Given the description of an element on the screen output the (x, y) to click on. 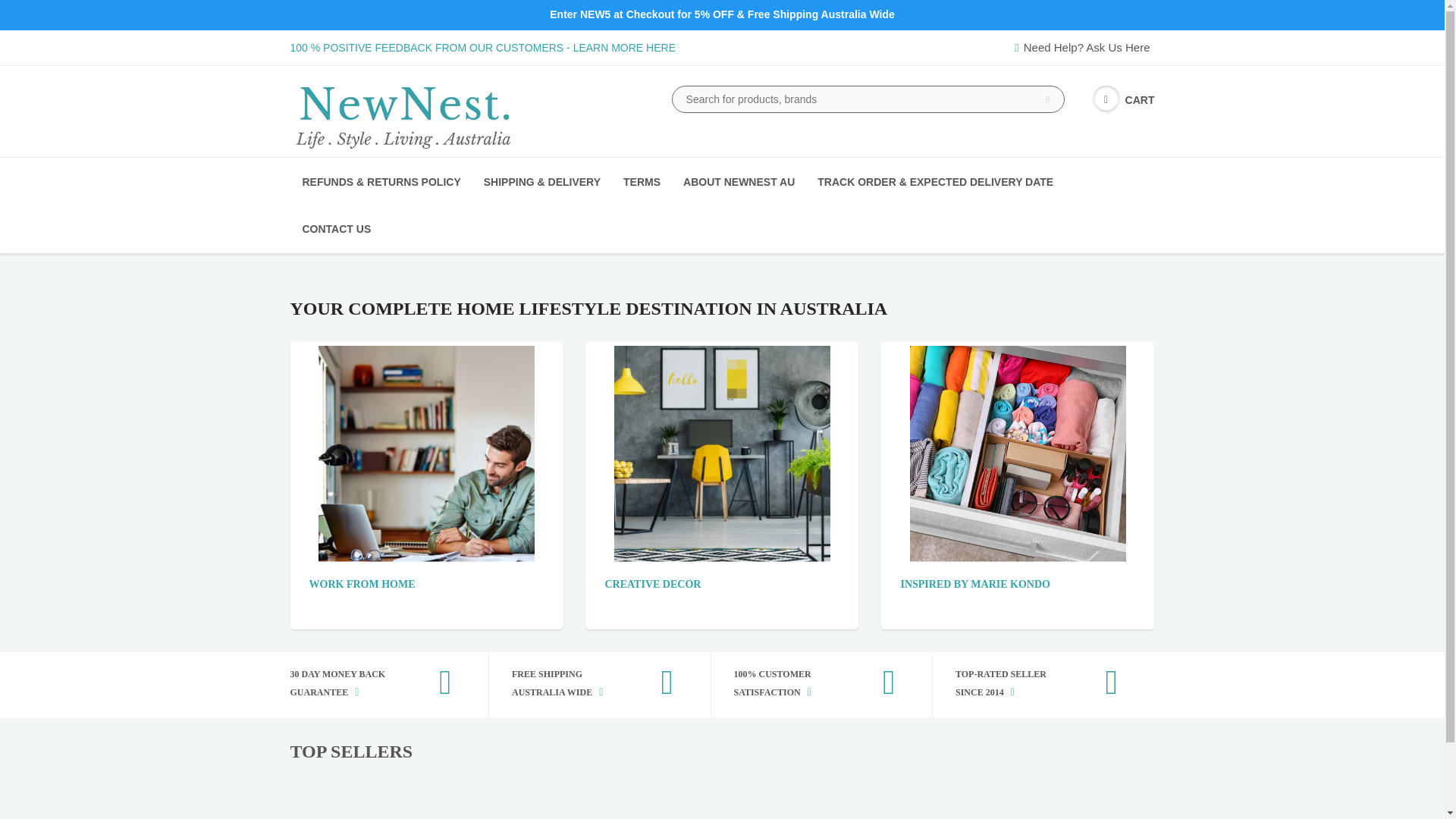
Browse our Work from Home collection (361, 583)
Browse our Work from Home collection (426, 452)
Browse our inspired by marie kondo collection (1017, 452)
Browse our inspired by marie kondo collection (974, 583)
CONTACT US (336, 228)
Browse our Creative Decor collection (652, 583)
CART (1124, 99)
Browse our Creative Decor collection (721, 452)
CREATIVE DECOR (652, 583)
FREE SHIPPING AUSTRALIA WIDE (588, 684)
TERMS (641, 181)
Need Help? Ask Us Here (1084, 47)
INSPIRED BY MARIE KONDO (974, 583)
TOP-RATED SELLER SINCE 2014 (1032, 684)
ABOUT NEWNEST AU (738, 181)
